Given the description of an element on the screen output the (x, y) to click on. 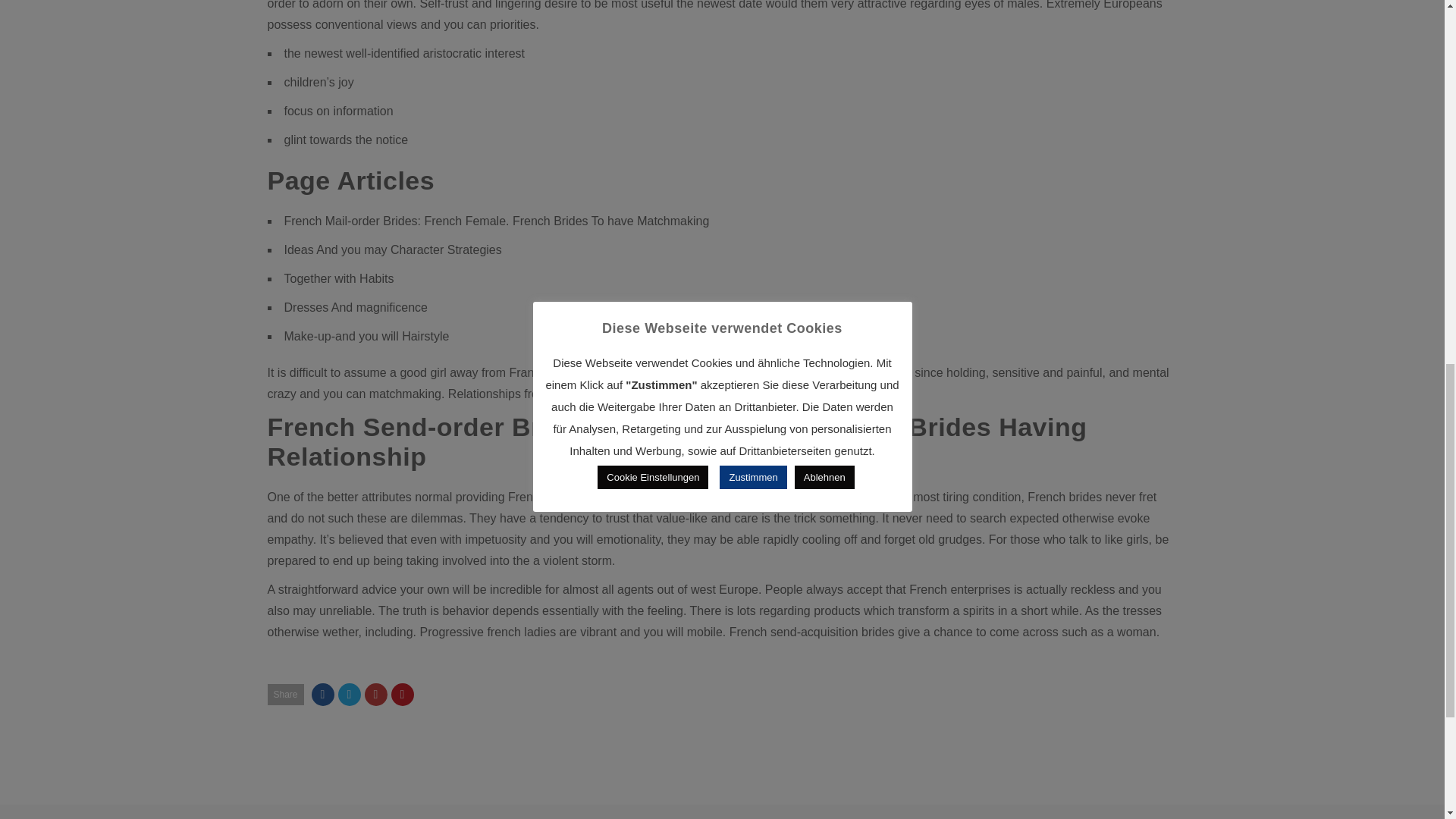
Share (284, 694)
